Given the description of an element on the screen output the (x, y) to click on. 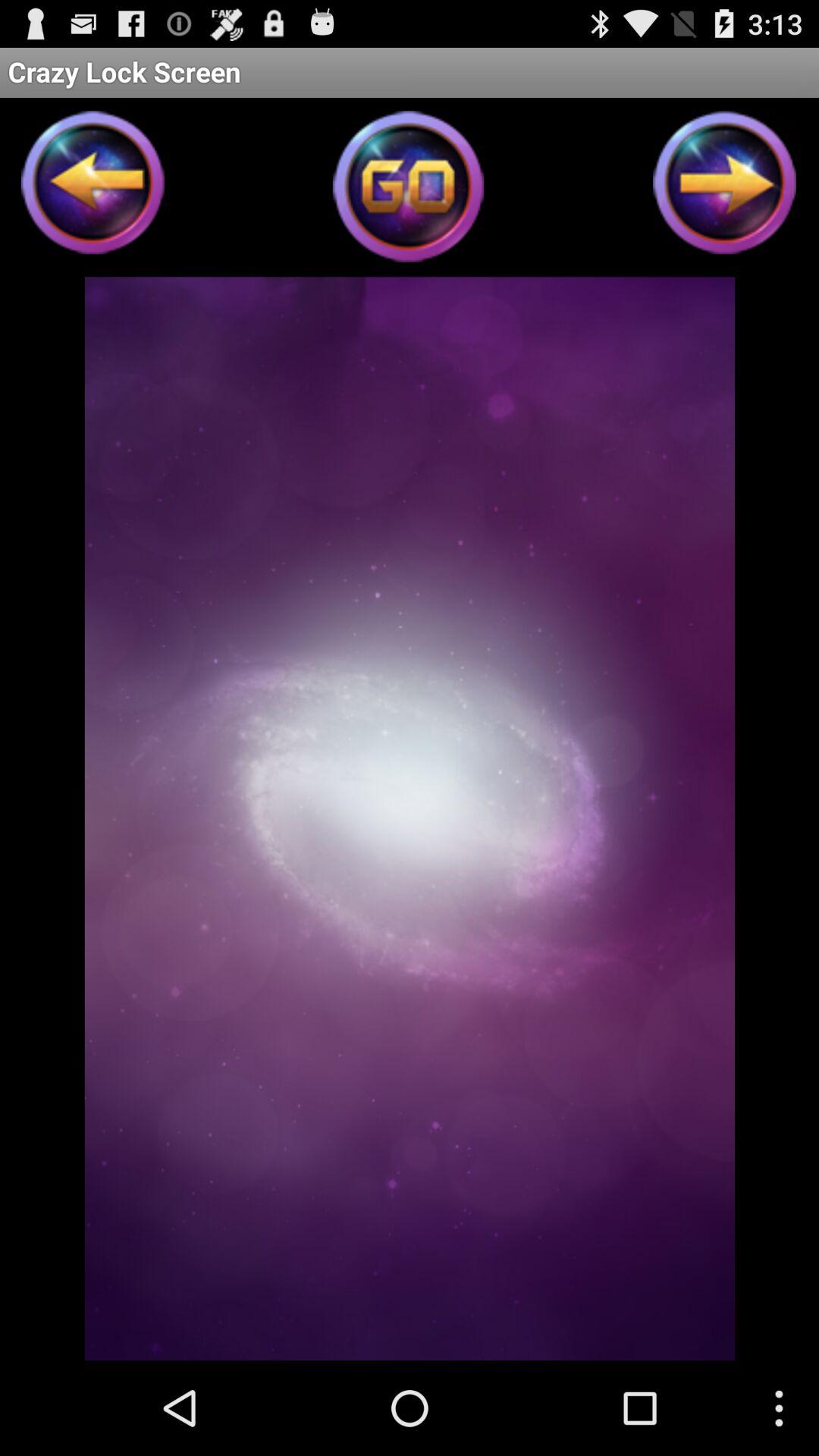
go back (93, 186)
